Given the description of an element on the screen output the (x, y) to click on. 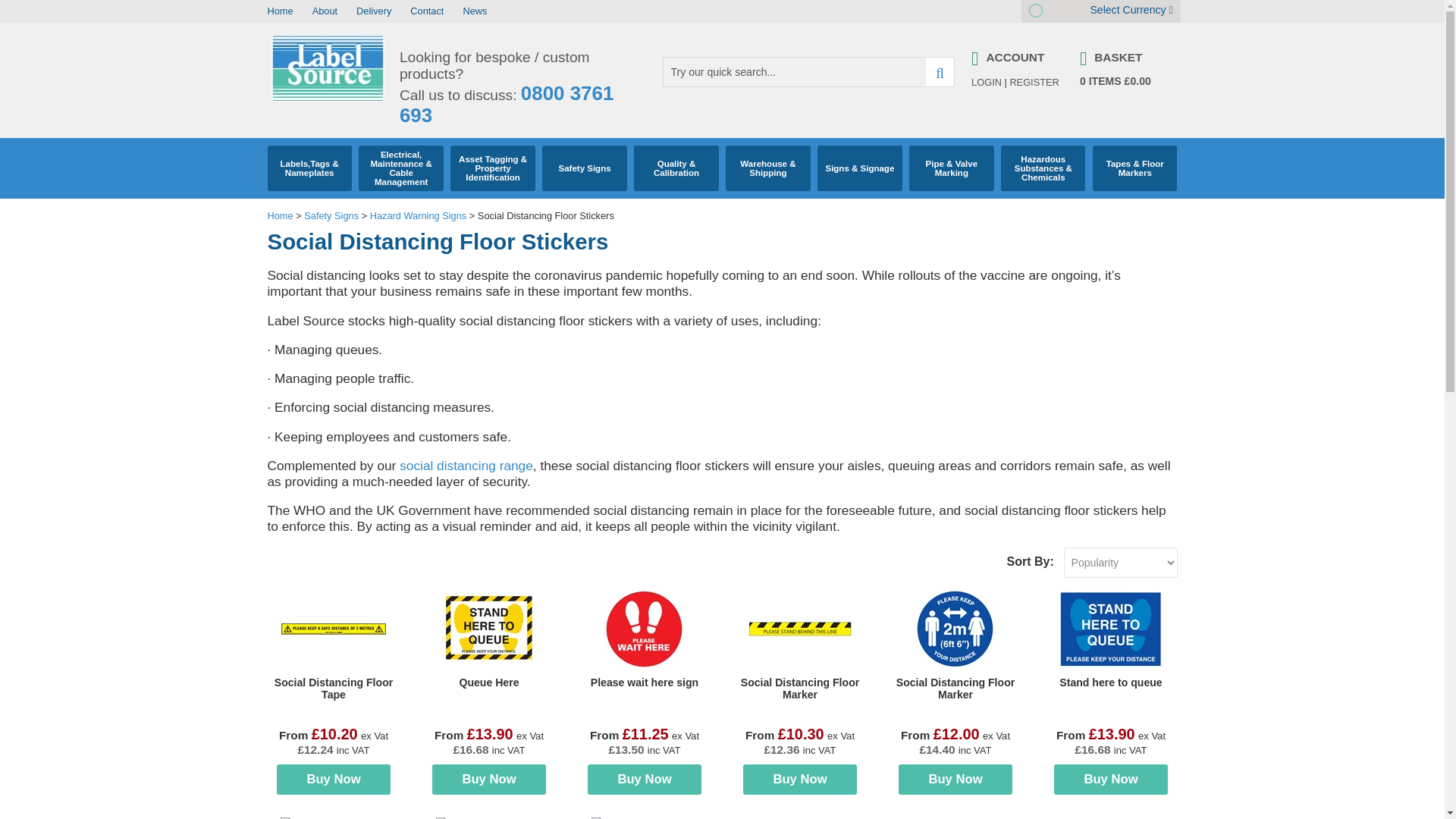
Delivery (373, 10)
Contact (427, 10)
Label Source (327, 98)
Delivery (373, 10)
call us today on 0800 3761 693 (505, 104)
Login (986, 81)
Contact (427, 10)
REGISTER (1033, 81)
EUR (1051, 10)
Register (1033, 81)
USD (1067, 10)
About (325, 10)
0800 3761 693 (505, 104)
ACCOUNT (1017, 58)
Home (279, 10)
